Given the description of an element on the screen output the (x, y) to click on. 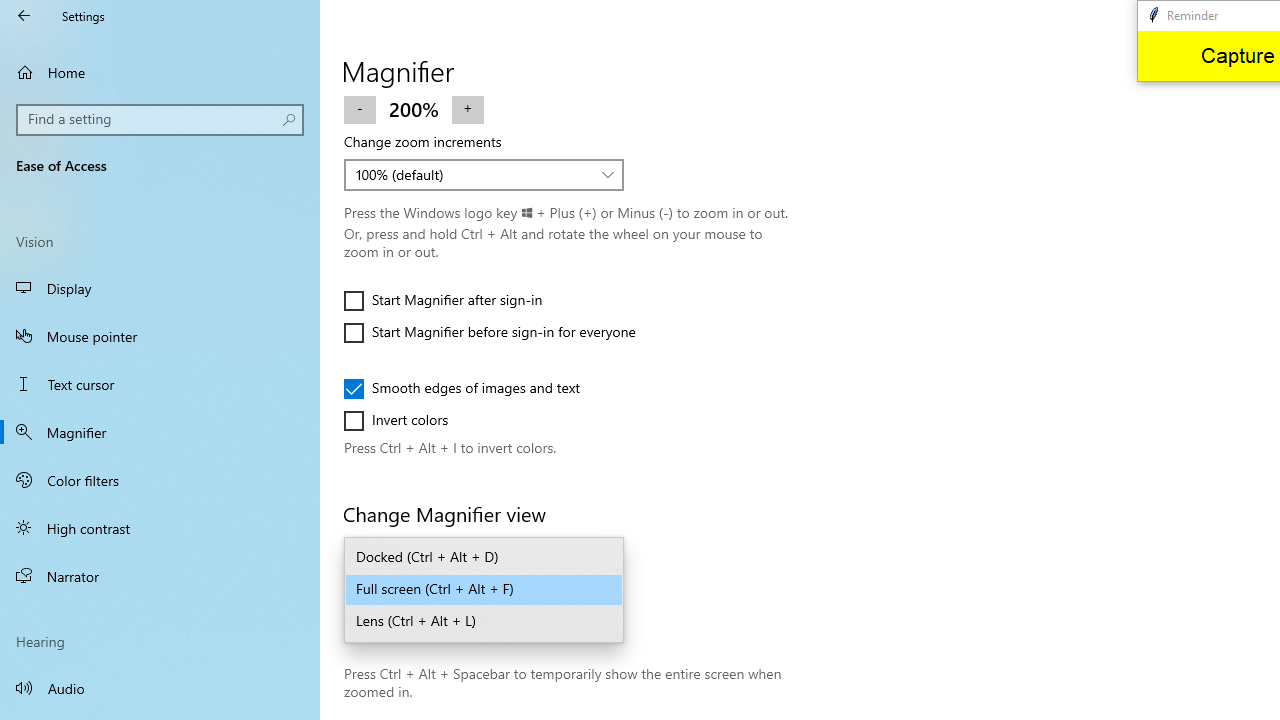
Zoom in (467, 107)
Narrator (160, 575)
Magnifier (160, 431)
High contrast (160, 527)
Home (160, 71)
Change zoom increments (484, 174)
100% (default) (473, 174)
Invert colors (403, 420)
Full screen (Ctrl + Alt + F) (484, 589)
